Given the description of an element on the screen output the (x, y) to click on. 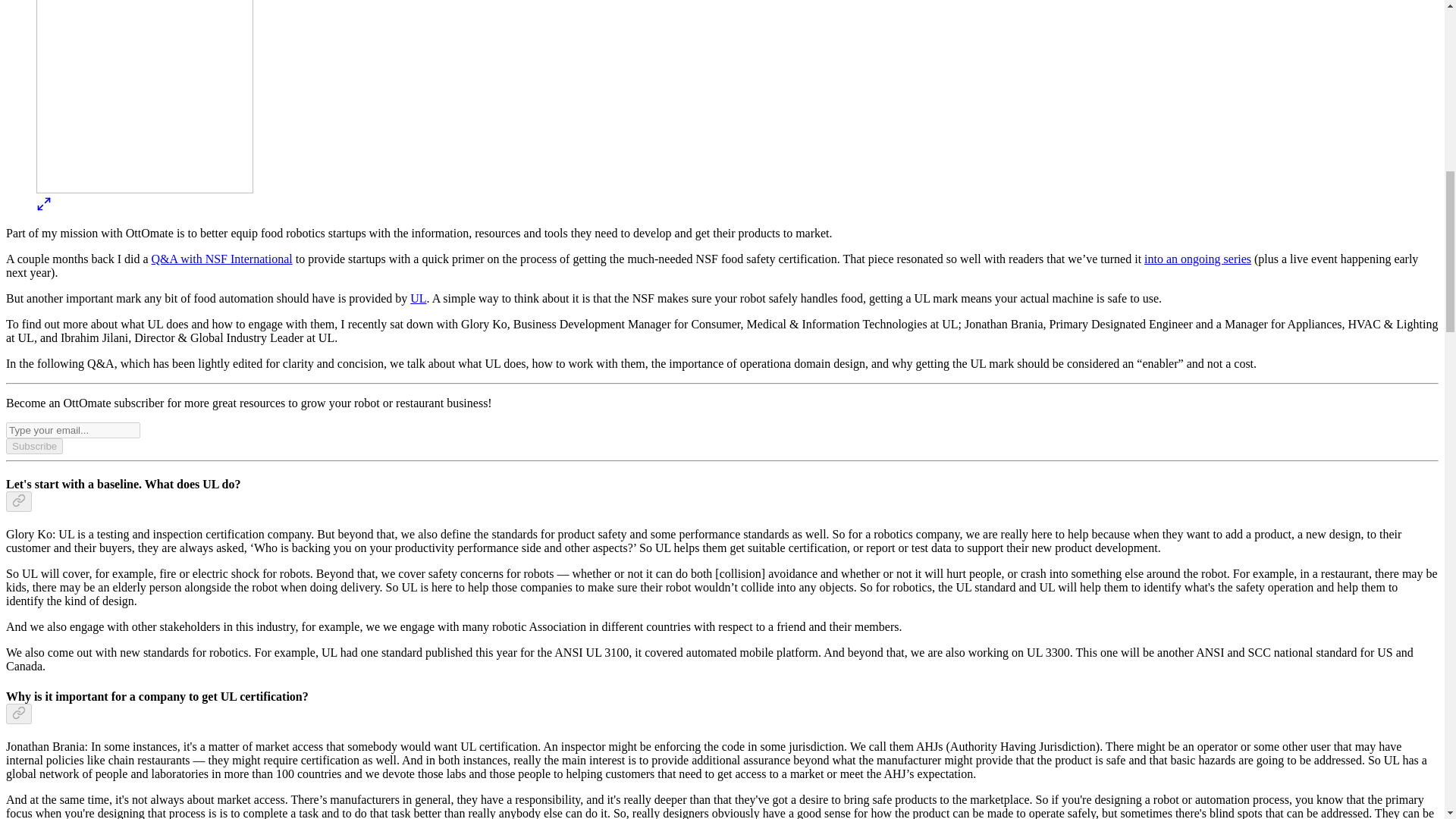
Subscribe (33, 446)
into an ongoing series (1197, 258)
UL (418, 297)
